Given the description of an element on the screen output the (x, y) to click on. 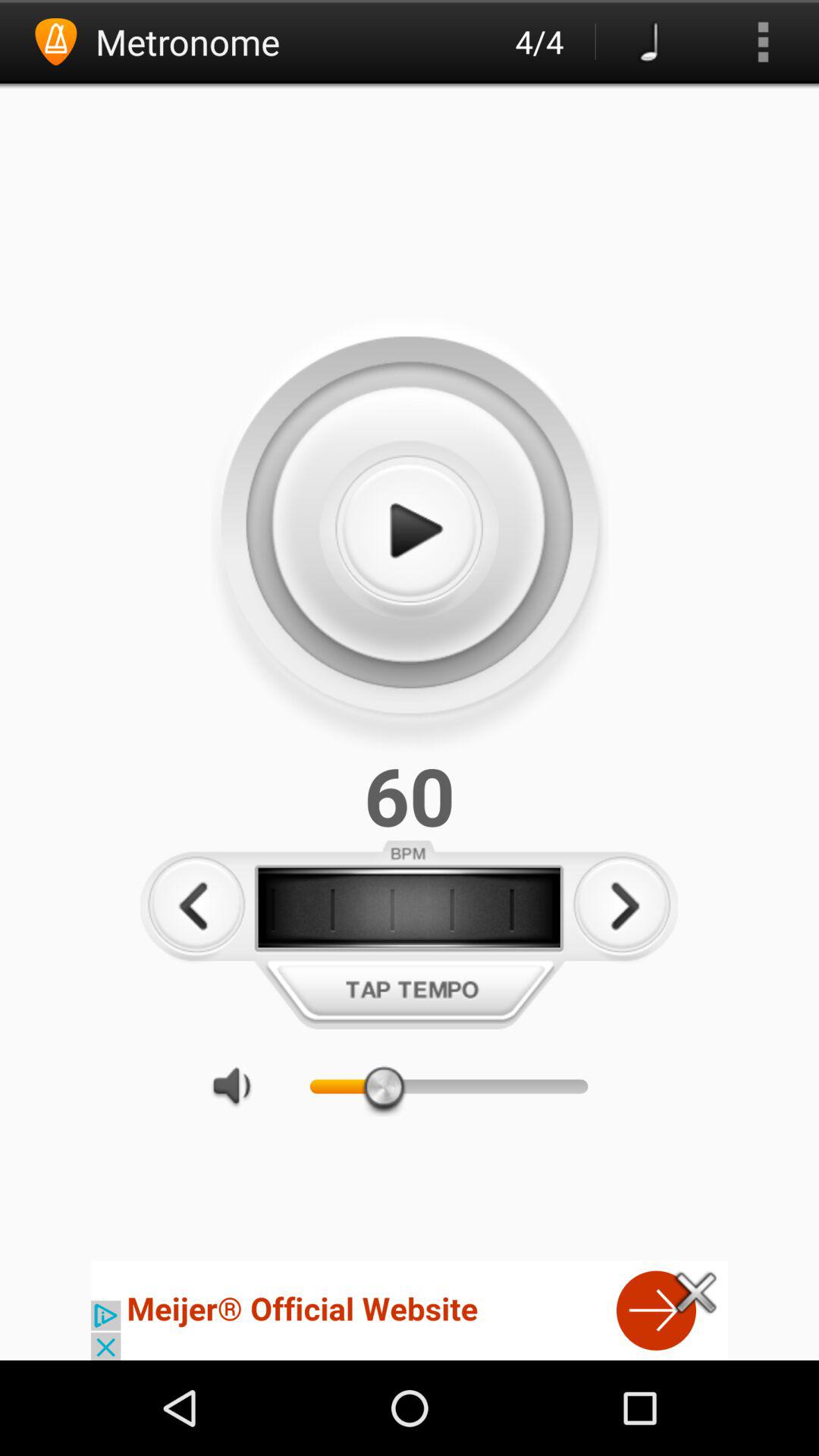
go to stop (408, 530)
